Given the description of an element on the screen output the (x, y) to click on. 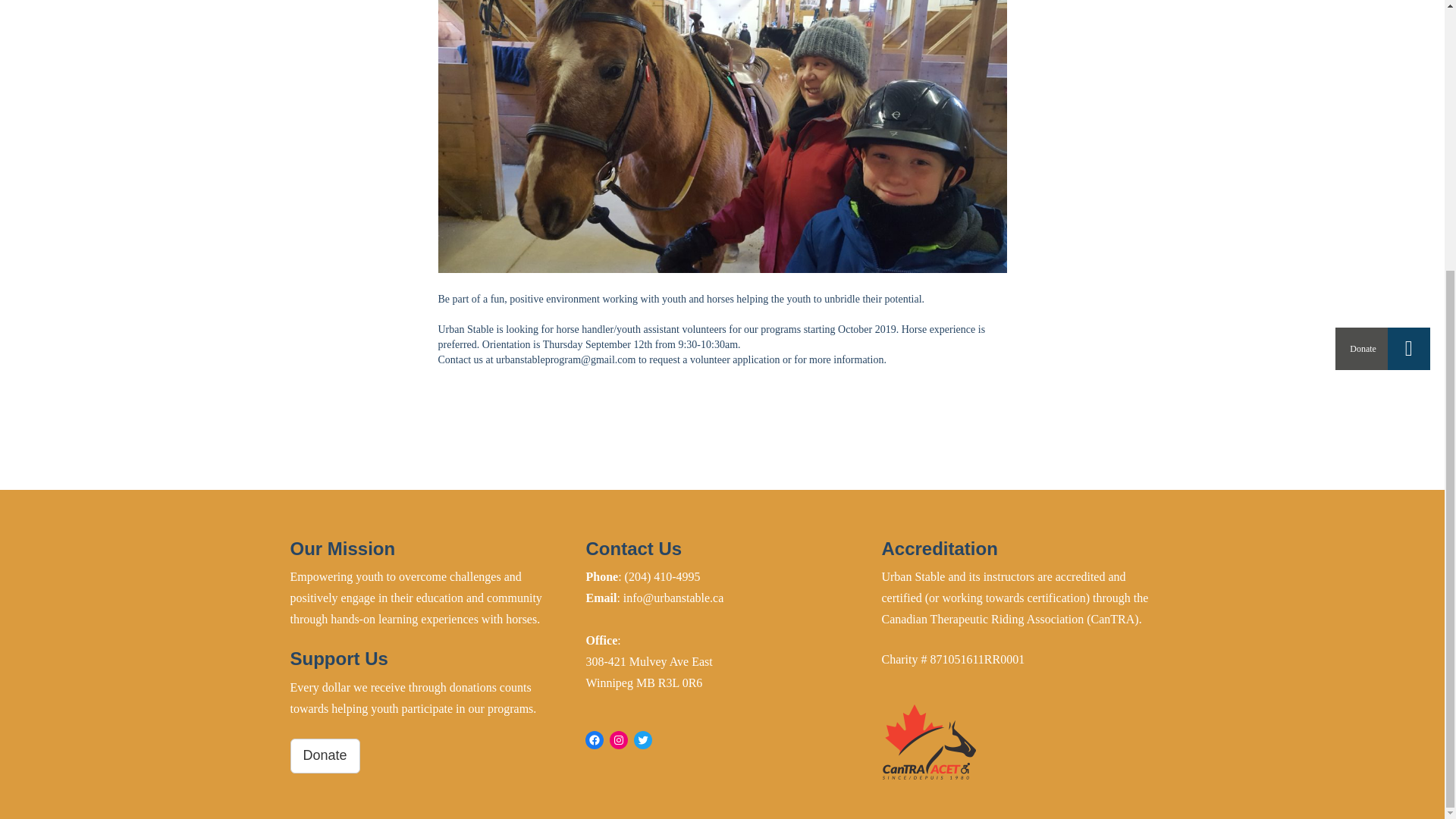
Donate (324, 755)
Donate (324, 753)
